Given the description of an element on the screen output the (x, y) to click on. 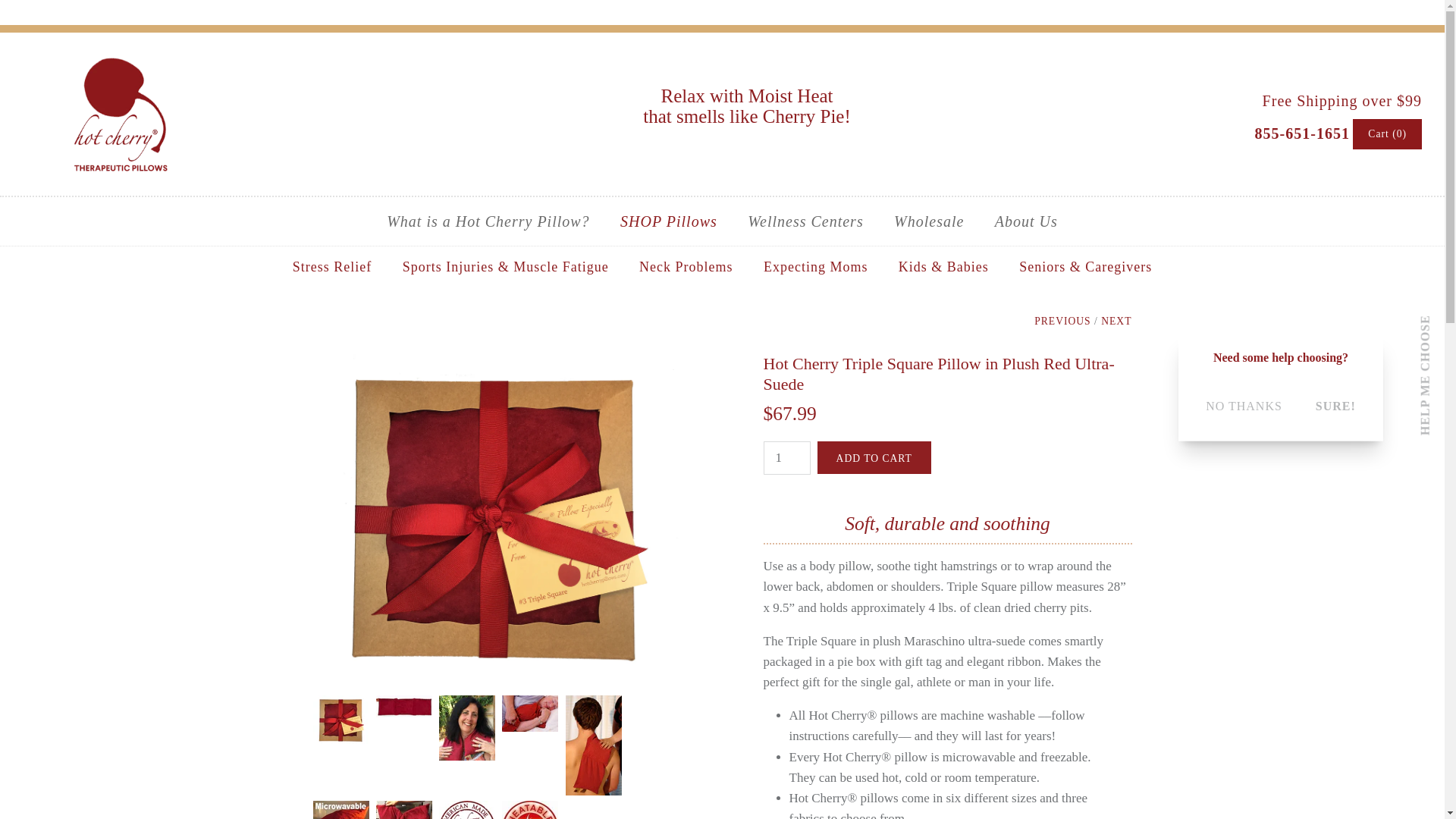
Wellness Centers (804, 220)
Hot Cherry Triple Square Pillow in Plush Red Ultra-Suede (340, 705)
Add to Cart (873, 458)
Hot Cherry Triple Square Pillow in Plush Red Ultra-Suede (340, 810)
NEXT (1115, 320)
Hot Cherry Pillows (121, 57)
Neck Problems (685, 266)
855-651-1651 (1302, 132)
Hot Cherry Triple Square Pillow in Plush Red Ultra-Suede (403, 705)
Hot Cherry Triple Square Pillow in Plush Red Ultra-Suede (497, 364)
PREVIOUS (1061, 320)
Hot Cherry Triple Square Pillow in Plush Red Ultra-Suede (590, 705)
Hot Cherry Triple Square Pillow in Plush Red Ultra-Suede (466, 810)
About Us (1026, 220)
SHOP Pillows (668, 220)
